Given the description of an element on the screen output the (x, y) to click on. 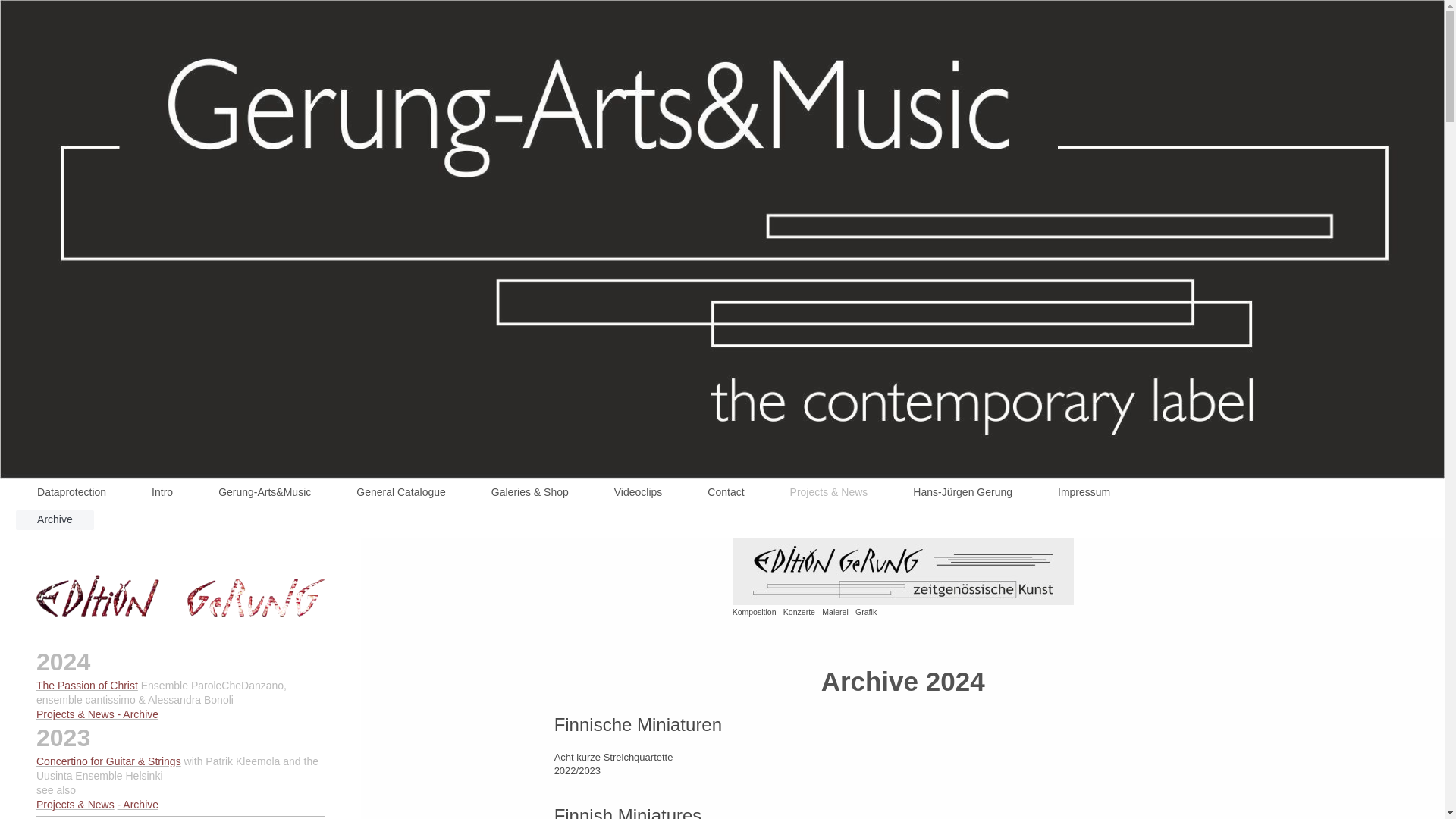
Dataprotection (72, 492)
General Catalogue (400, 492)
Contact (725, 492)
Komposition - Konzerte - Malerei - Grafik (903, 577)
Videoclips (638, 492)
Intro (162, 492)
